Given the description of an element on the screen output the (x, y) to click on. 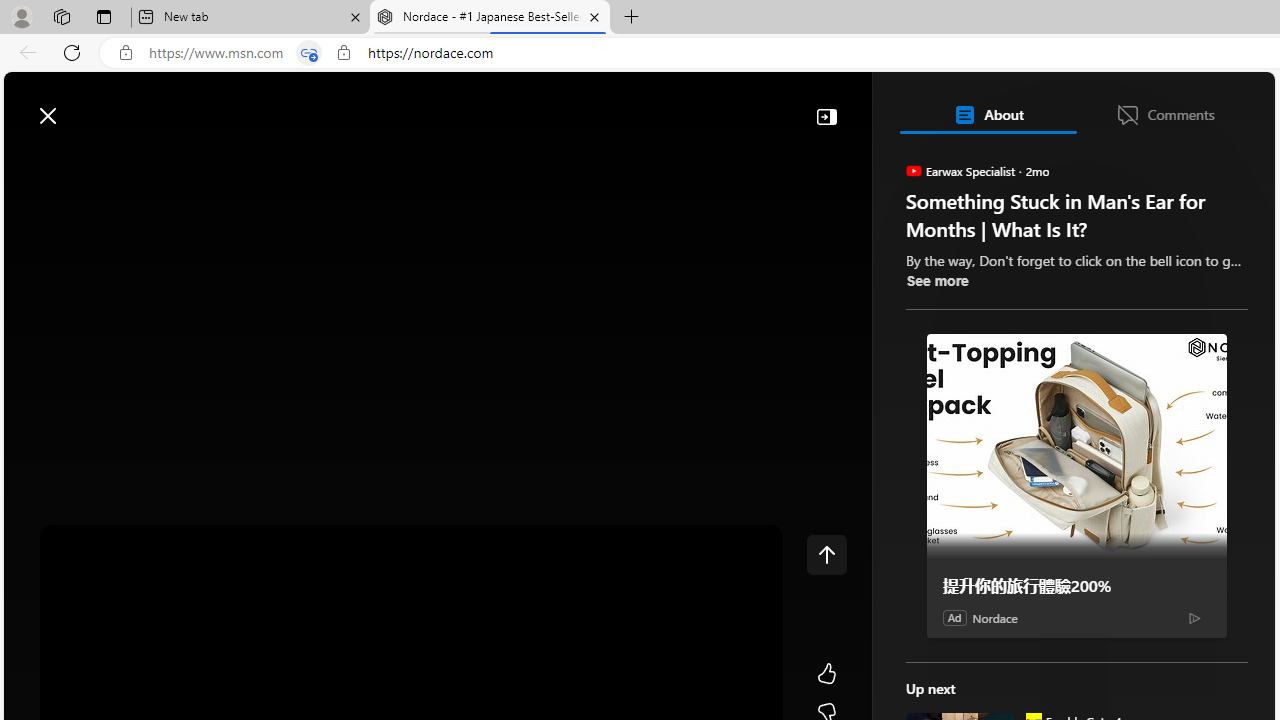
Class: control icon-only (826, 554)
The Associated Press (974, 645)
Microsoft rewards (1151, 105)
Collapse (826, 115)
ABC News (974, 557)
Web search (283, 105)
Personalize (1195, 162)
